Given the description of an element on the screen output the (x, y) to click on. 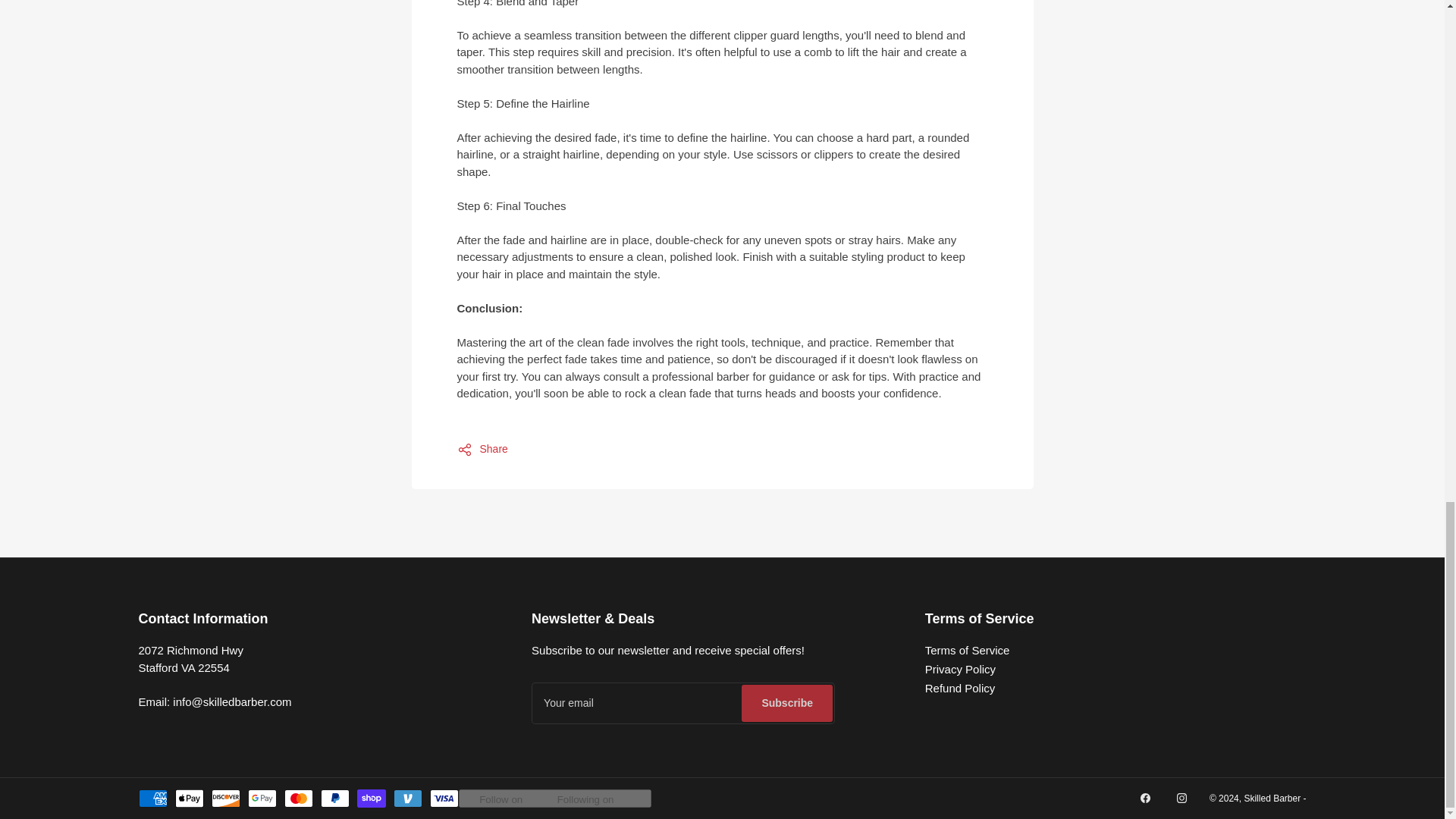
Terms of Service (967, 649)
Privacy Policy (959, 668)
Instagram (1181, 798)
Venmo (407, 798)
Skilled Barber (1271, 798)
Apple Pay (188, 798)
Shop Pay (370, 798)
PayPal (334, 798)
Visa (443, 798)
Google Pay (261, 798)
